Given the description of an element on the screen output the (x, y) to click on. 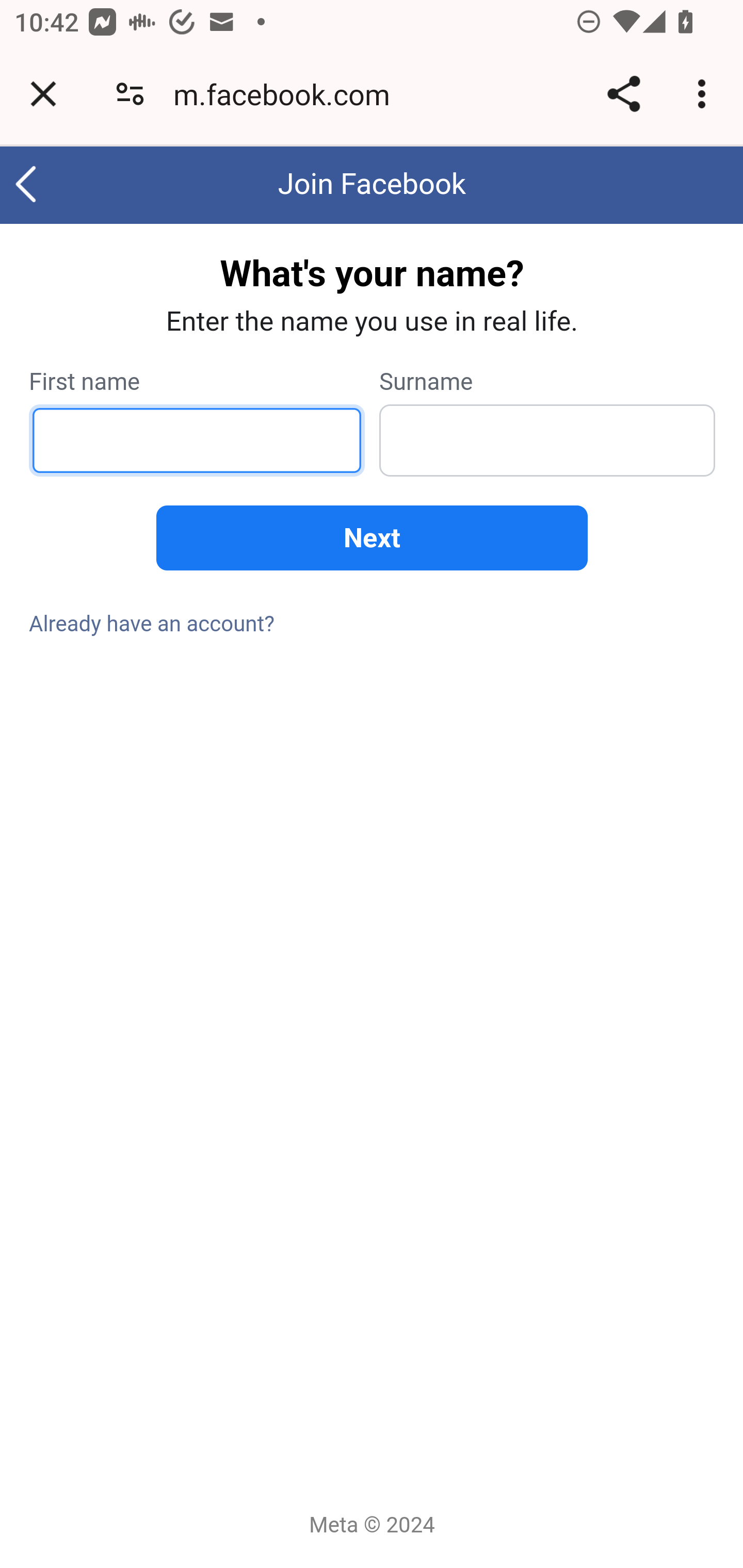
Close tab (43, 93)
Share (623, 93)
Customize and control Google Chrome (705, 93)
Connection is secure (129, 93)
m.facebook.com (288, 93)
Next (371, 538)
Already have an account? (152, 622)
